Given the description of an element on the screen output the (x, y) to click on. 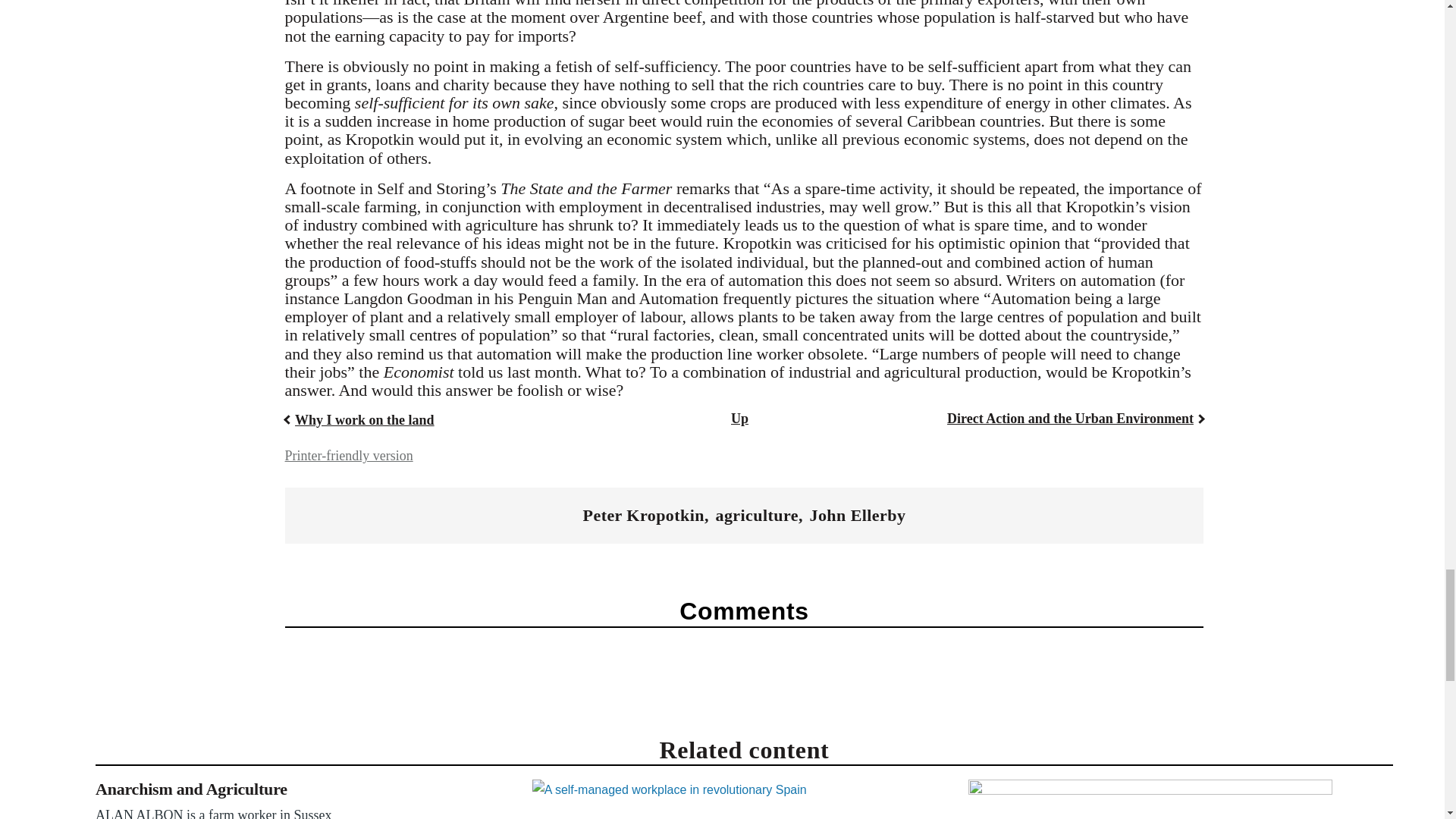
Go to previous page (359, 419)
agriculture (755, 515)
Why I work on the land (359, 419)
Up (739, 418)
Go to next page (1075, 418)
John Ellerby (857, 515)
Peter Kropotkin (643, 515)
A self-managed workplace in revolutionary Spain (714, 799)
